Given the description of an element on the screen output the (x, y) to click on. 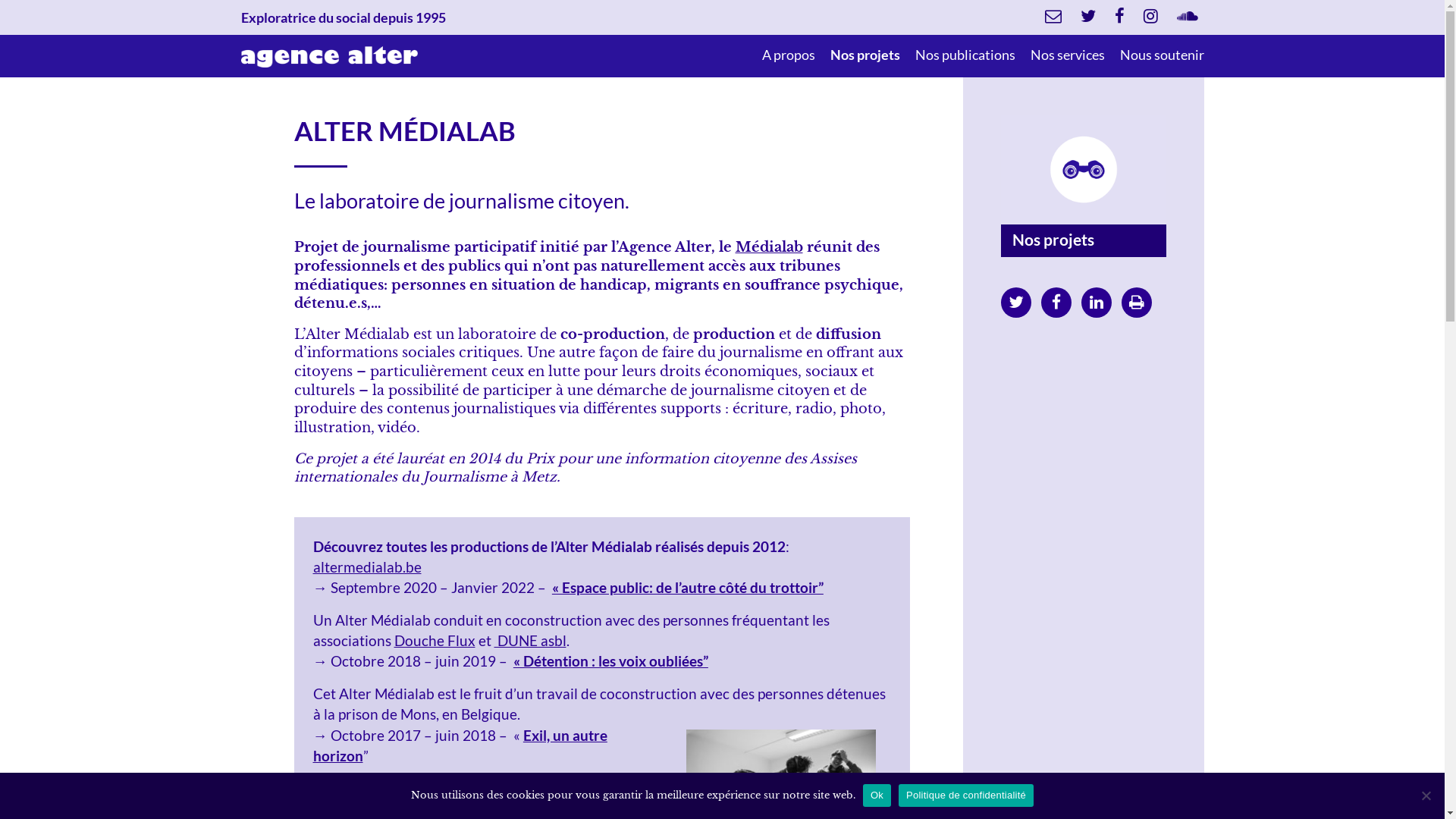
Nous soutenir Element type: text (1161, 54)
Partager sur LinkedIn Element type: hover (1096, 301)
Nos services Element type: text (1066, 54)
Nos projets Element type: text (864, 54)
Douche Flux Element type: text (434, 640)
altermedialab.be Element type: text (366, 566)
Nos projets Element type: text (1053, 238)
Nos publications Element type: text (964, 54)
Imprimer cette page Element type: hover (1136, 301)
Ok Element type: text (876, 795)
Partager sur Twitter Element type: hover (1015, 301)
DUNE asbl Element type: text (530, 640)
Non Element type: hover (1425, 795)
A propos Element type: text (787, 54)
Exil, un autre horizon Element type: text (459, 745)
Partager sur Facebook Element type: hover (1055, 301)
